Given the description of an element on the screen output the (x, y) to click on. 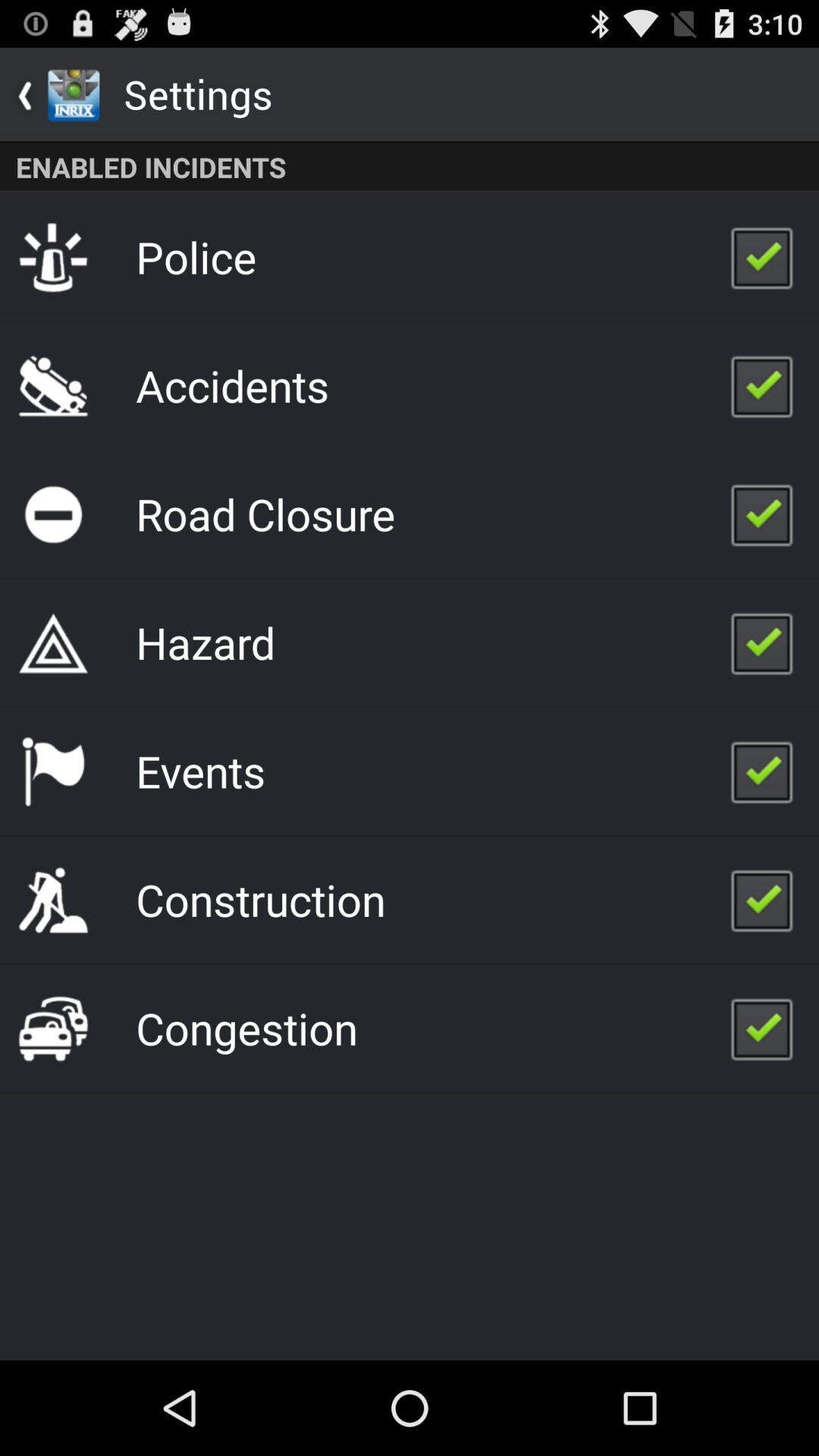
flip until police item (195, 256)
